Given the description of an element on the screen output the (x, y) to click on. 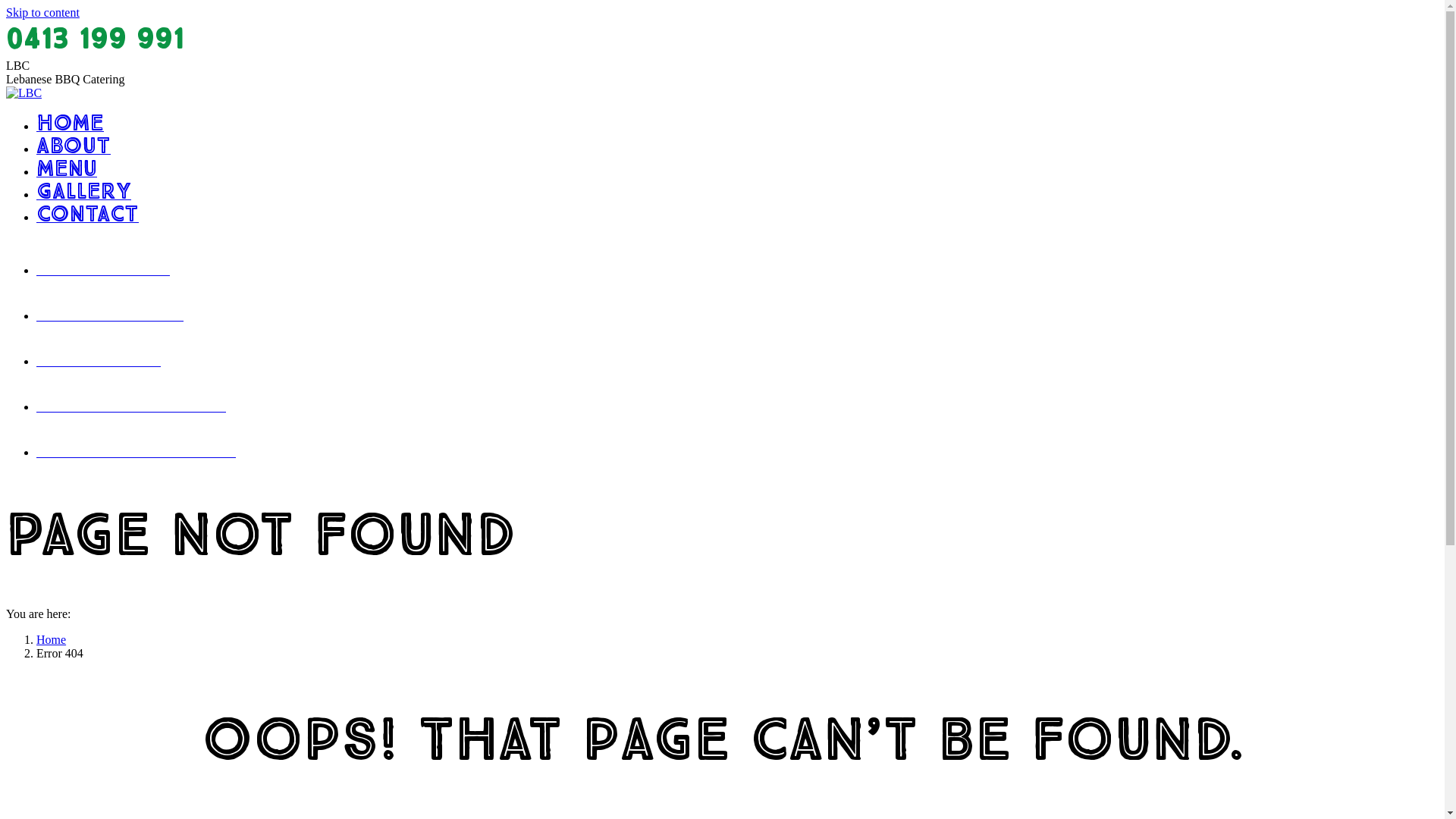
Gallery Element type: text (142, 412)
Contact Element type: text (147, 457)
Home Element type: text (50, 639)
GALLERY Element type: text (83, 194)
MENU Element type: text (66, 171)
Home Element type: text (114, 275)
Skip to content Element type: text (42, 12)
HOME Element type: text (69, 125)
ABOUT Element type: text (73, 148)
CONTACT Element type: text (87, 216)
About Element type: text (121, 321)
Menu Element type: text (109, 366)
